Given the description of an element on the screen output the (x, y) to click on. 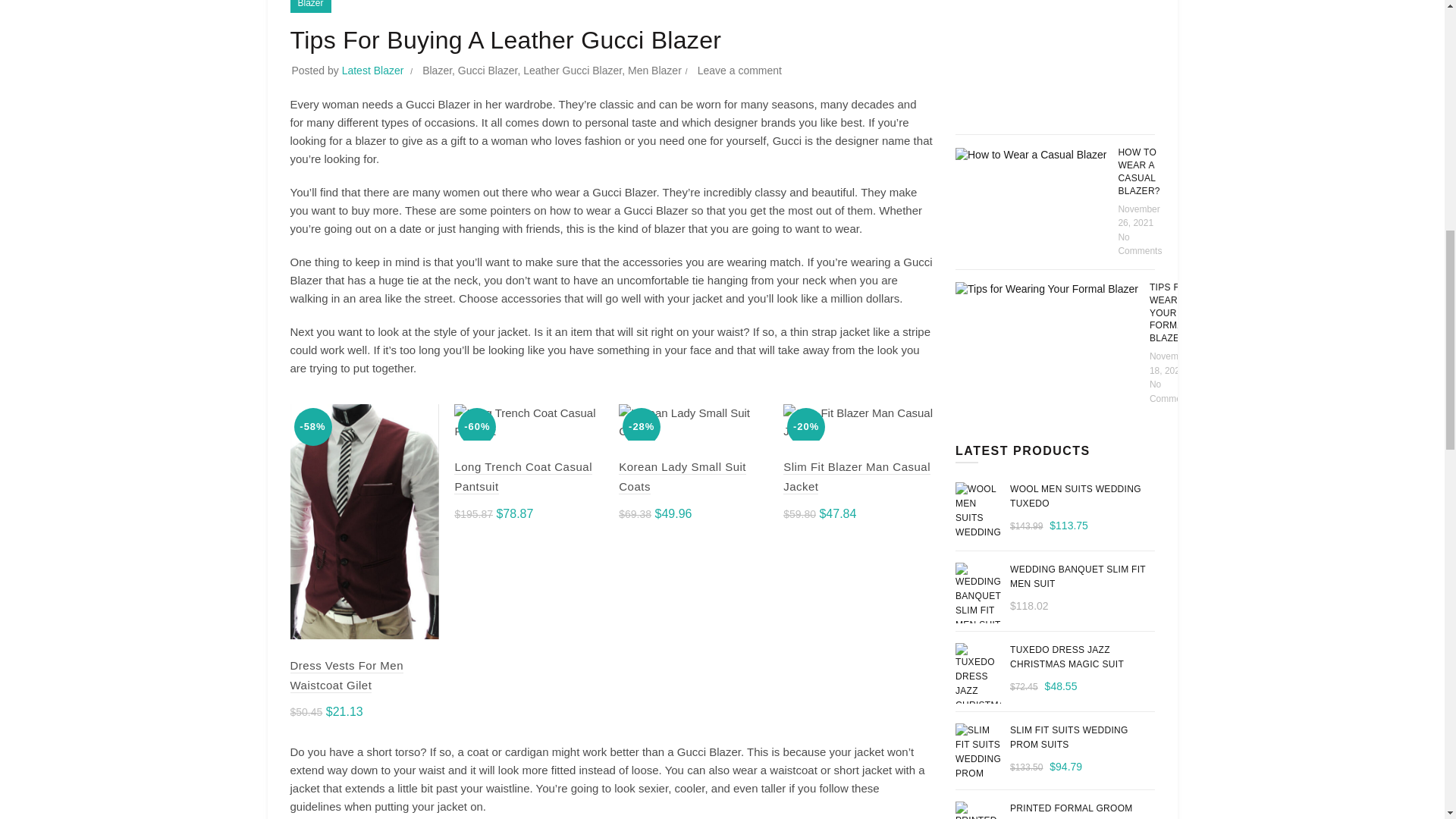
Leather Gucci Blazer (571, 70)
Dress Vests For Men Waistcoat Gilet (346, 675)
Blazer (436, 70)
Leave a comment (739, 70)
Gucci Blazer (488, 70)
Blazer (310, 6)
Latest Blazer (374, 70)
Men Blazer (654, 70)
